Given the description of an element on the screen output the (x, y) to click on. 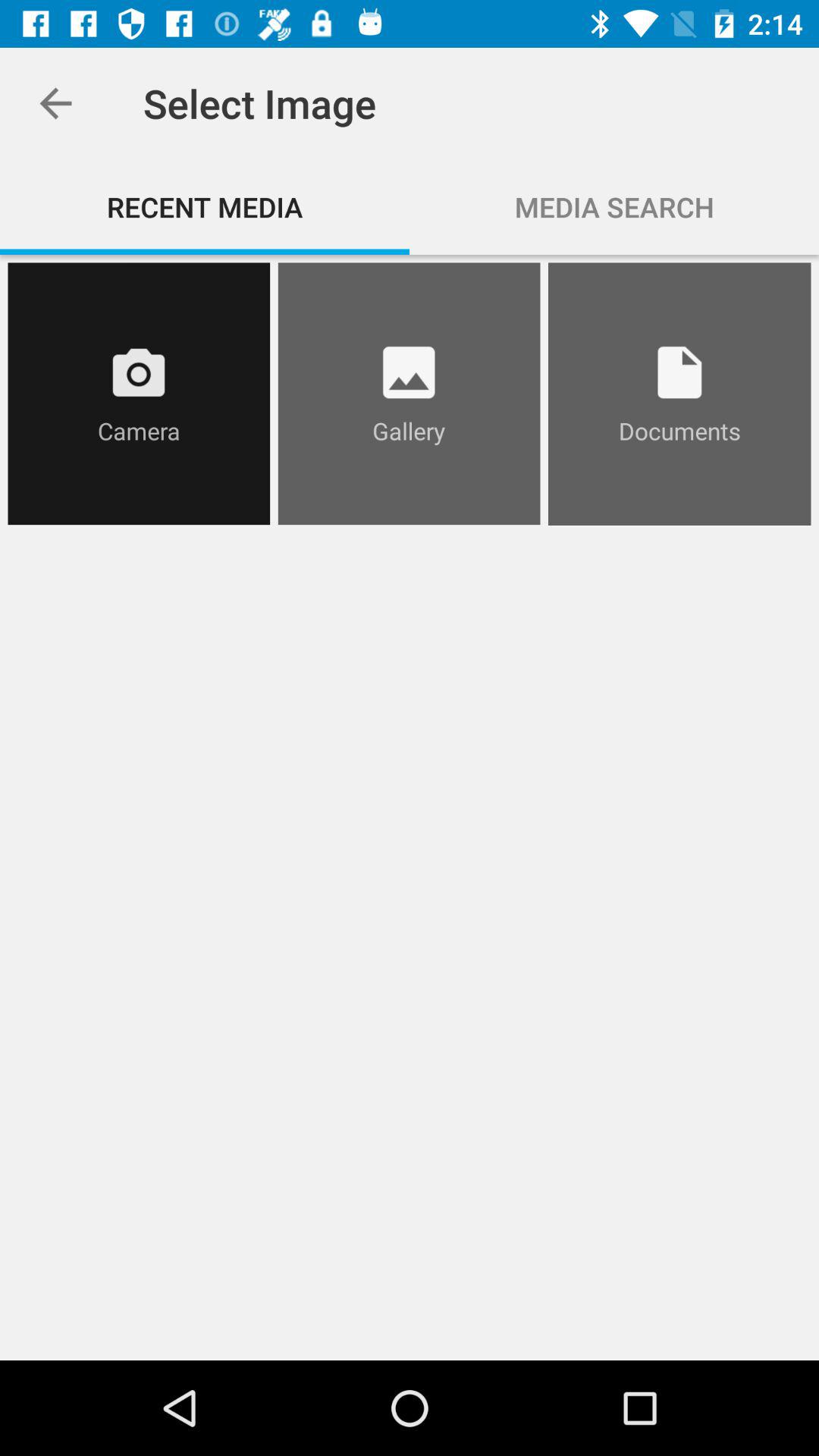
select item next to the select image icon (55, 103)
